Given the description of an element on the screen output the (x, y) to click on. 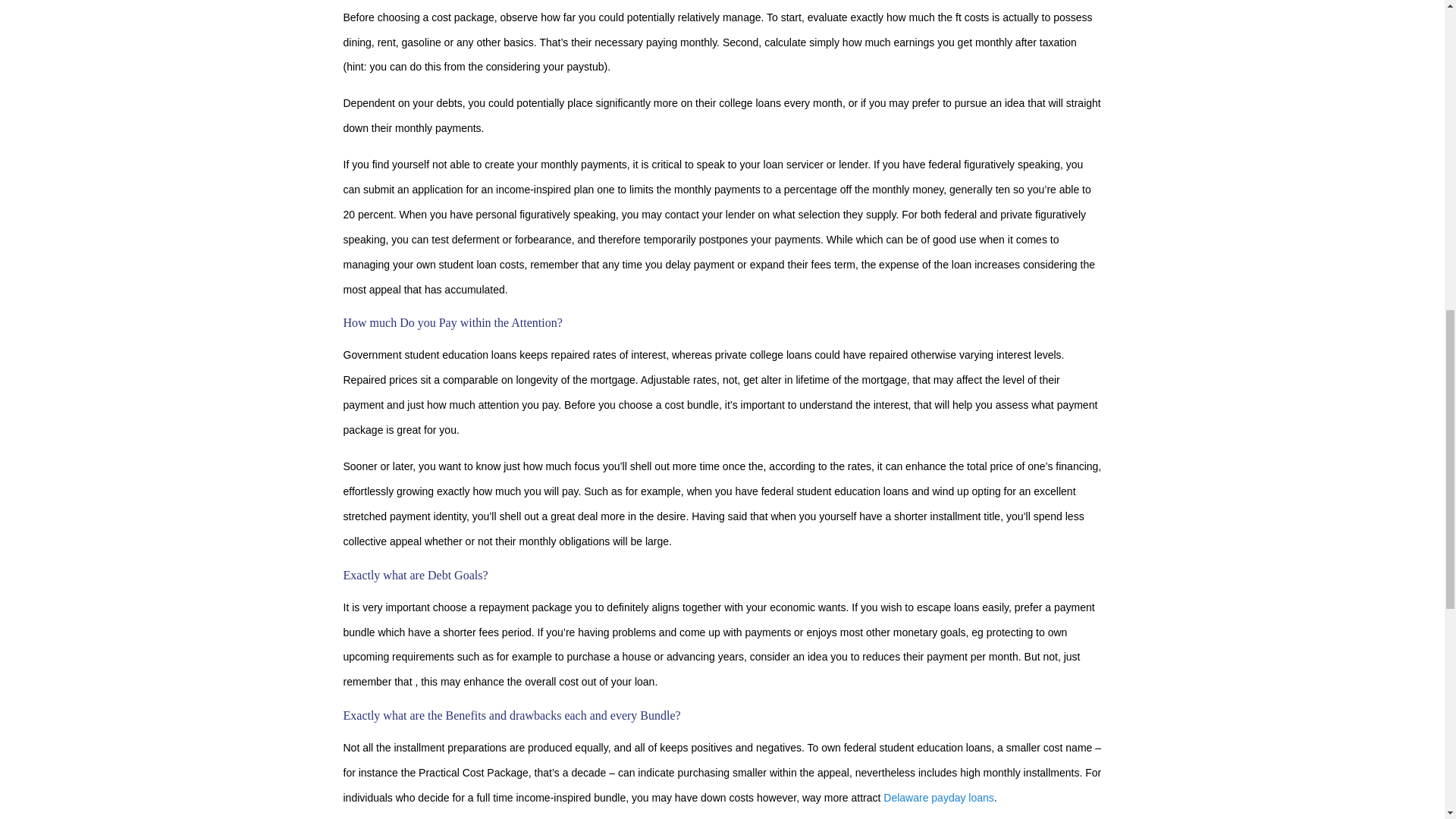
Delaware payday loans (938, 797)
